Given the description of an element on the screen output the (x, y) to click on. 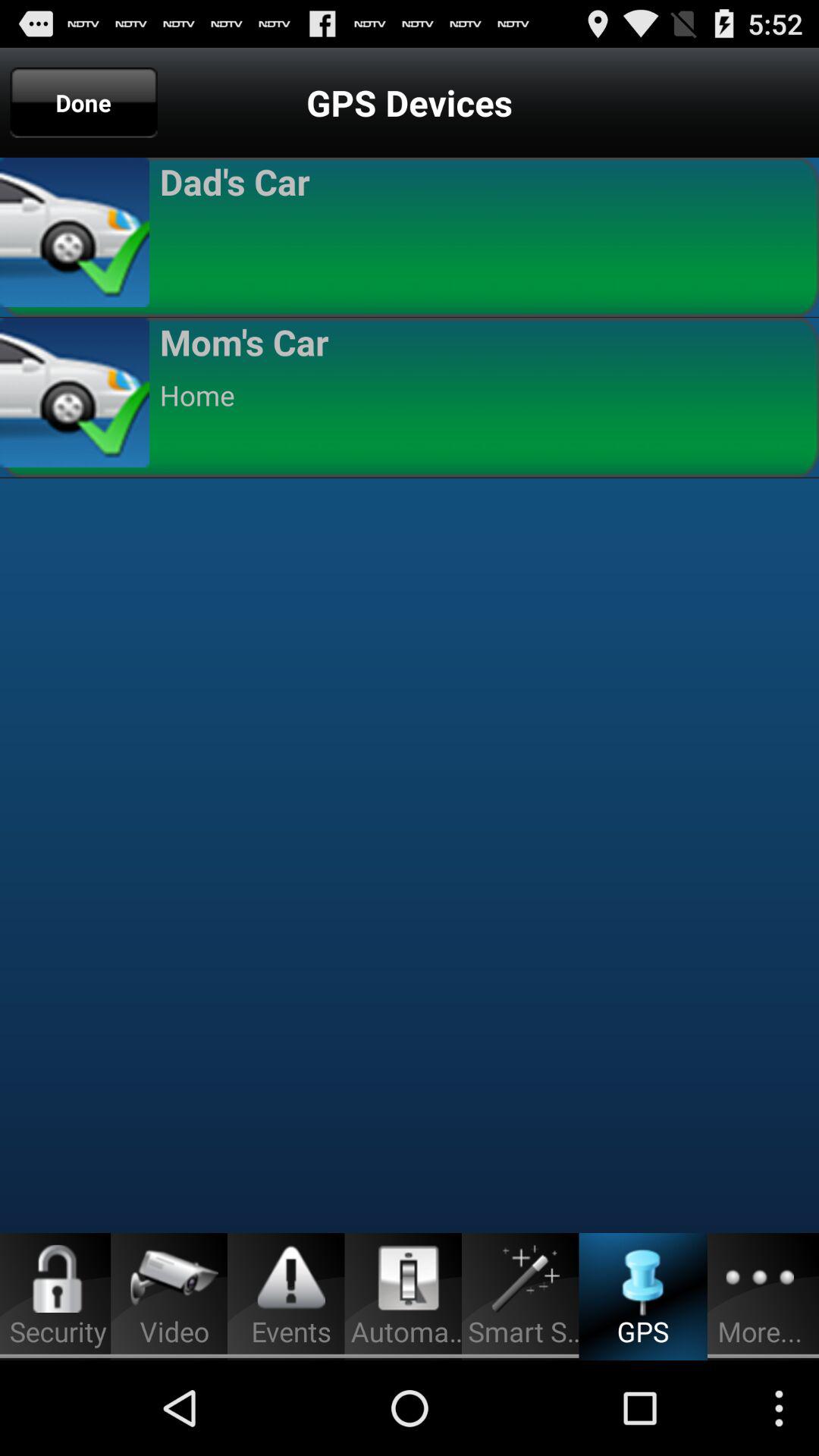
launch app next to gps devices item (83, 102)
